Given the description of an element on the screen output the (x, y) to click on. 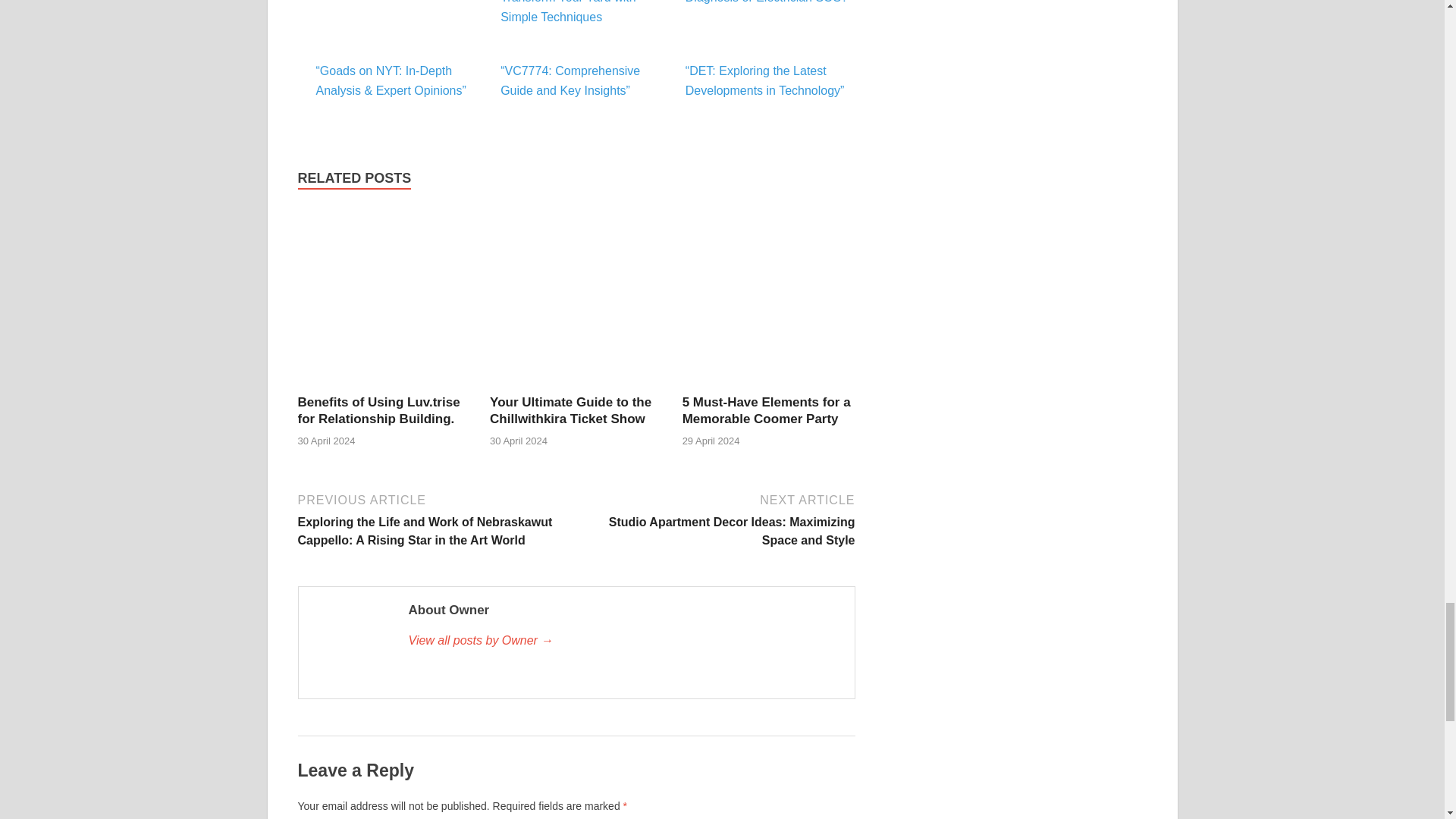
Your Ultimate Guide to the Chillwithkira Ticket Show (569, 409)
5 Must-Have Elements for a Memorable Coomer Party (766, 409)
Benefits of Using Luv.trise for Relationship Building. (383, 384)
Benefits of Using Luv.trise for Relationship Building. (378, 409)
Owner (622, 640)
Flickering Lights: DIY Diagnosis or Electrician SOS?   (769, 2)
5 Must-Have Elements for a Memorable Coomer Party (769, 384)
Your Ultimate Guide to the Chillwithkira Ticket Show (575, 384)
Your Ultimate Guide to the Chillwithkira Ticket Show (569, 409)
Benefits of Using Luv.trise for Relationship Building. (378, 409)
5 Must-Have Elements for a Memorable Coomer Party (766, 409)
